Given the description of an element on the screen output the (x, y) to click on. 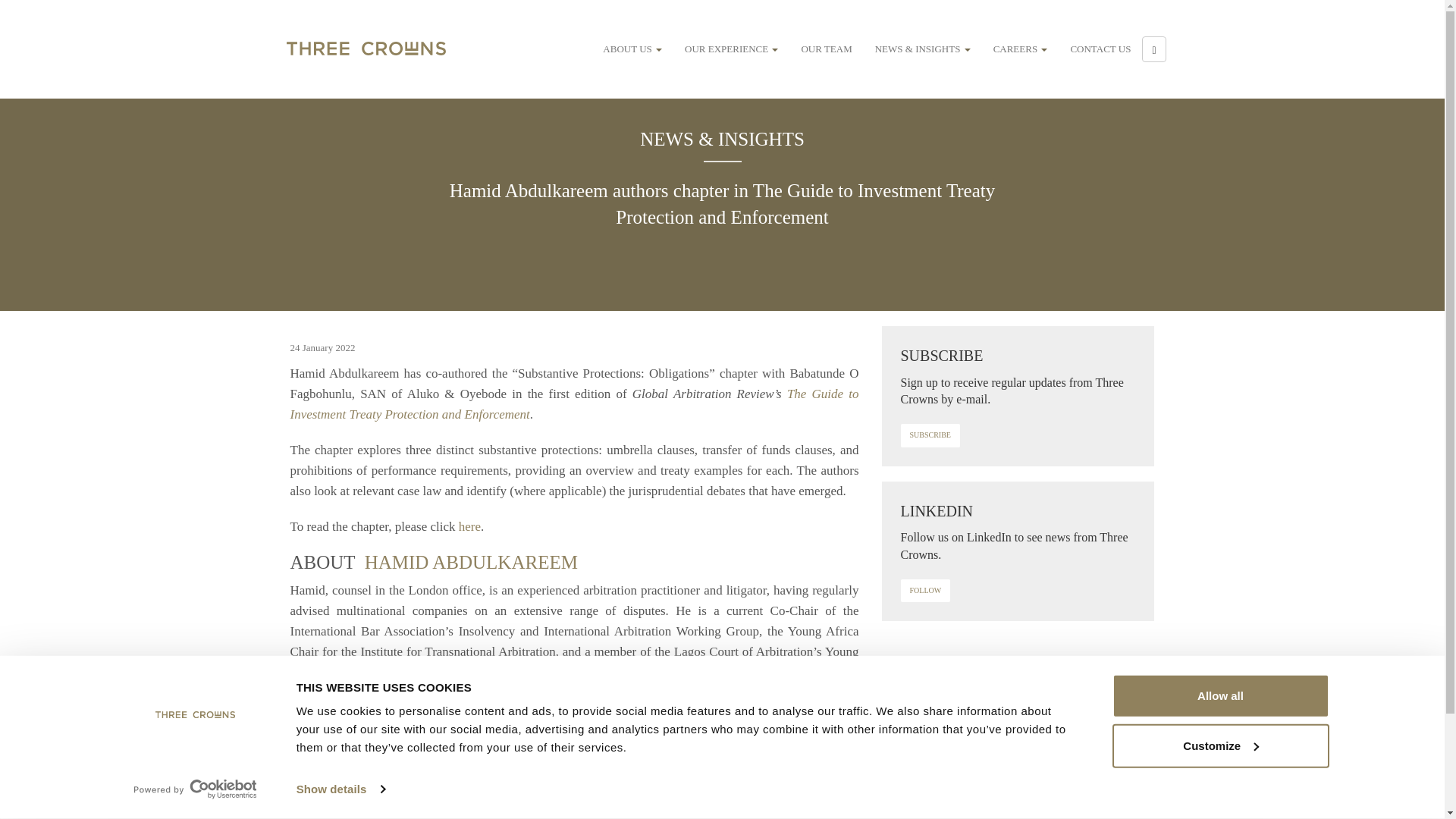
Allow all (1219, 696)
Customize (1219, 745)
Show details (340, 789)
